Given the description of an element on the screen output the (x, y) to click on. 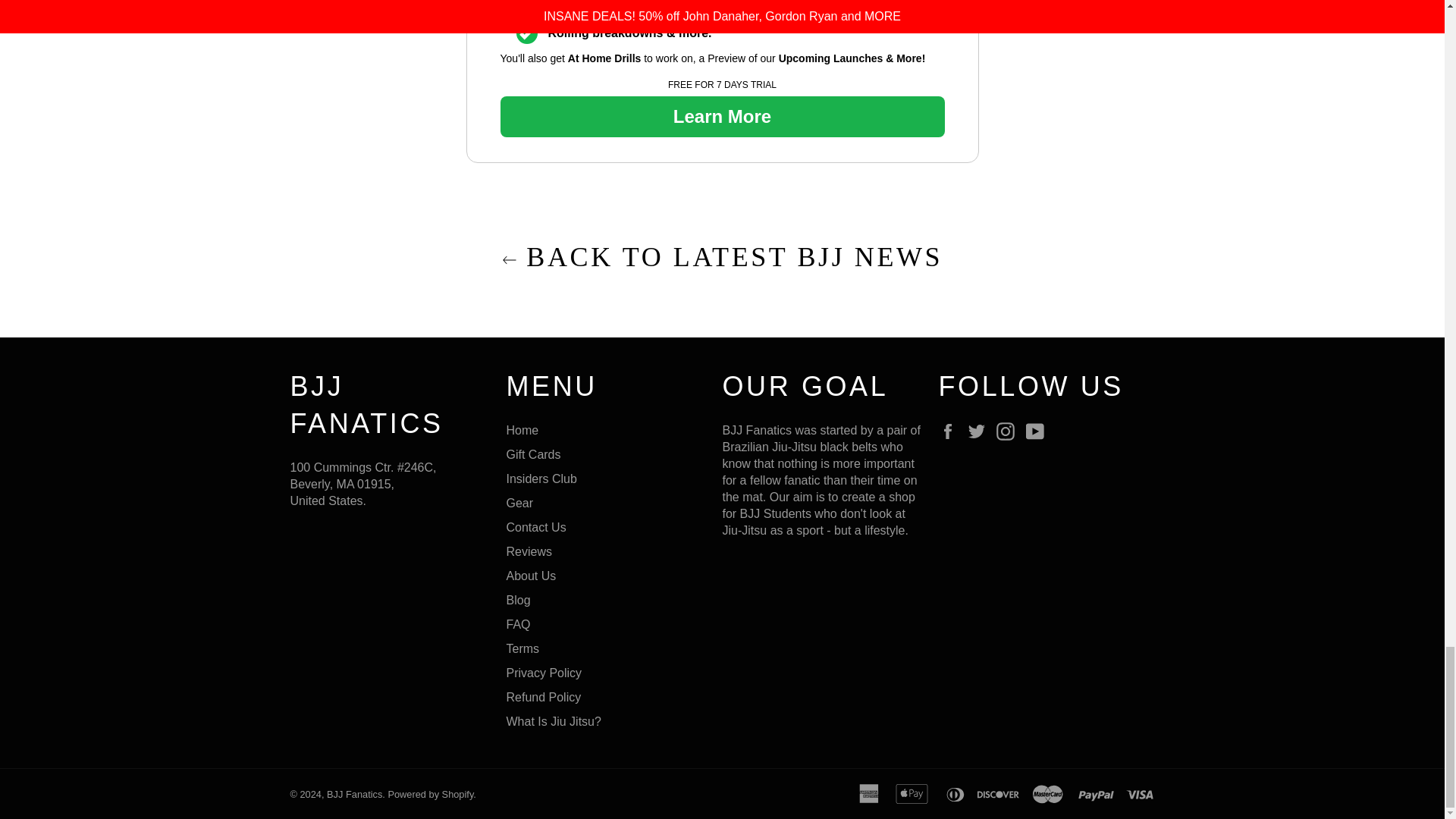
BJJ Fanatics on Facebook (951, 431)
BJJ Fanatics on Instagram (1008, 431)
BJJ Fanatics on YouTube (1038, 431)
BJJ Fanatics on Twitter (980, 431)
